Given the description of an element on the screen output the (x, y) to click on. 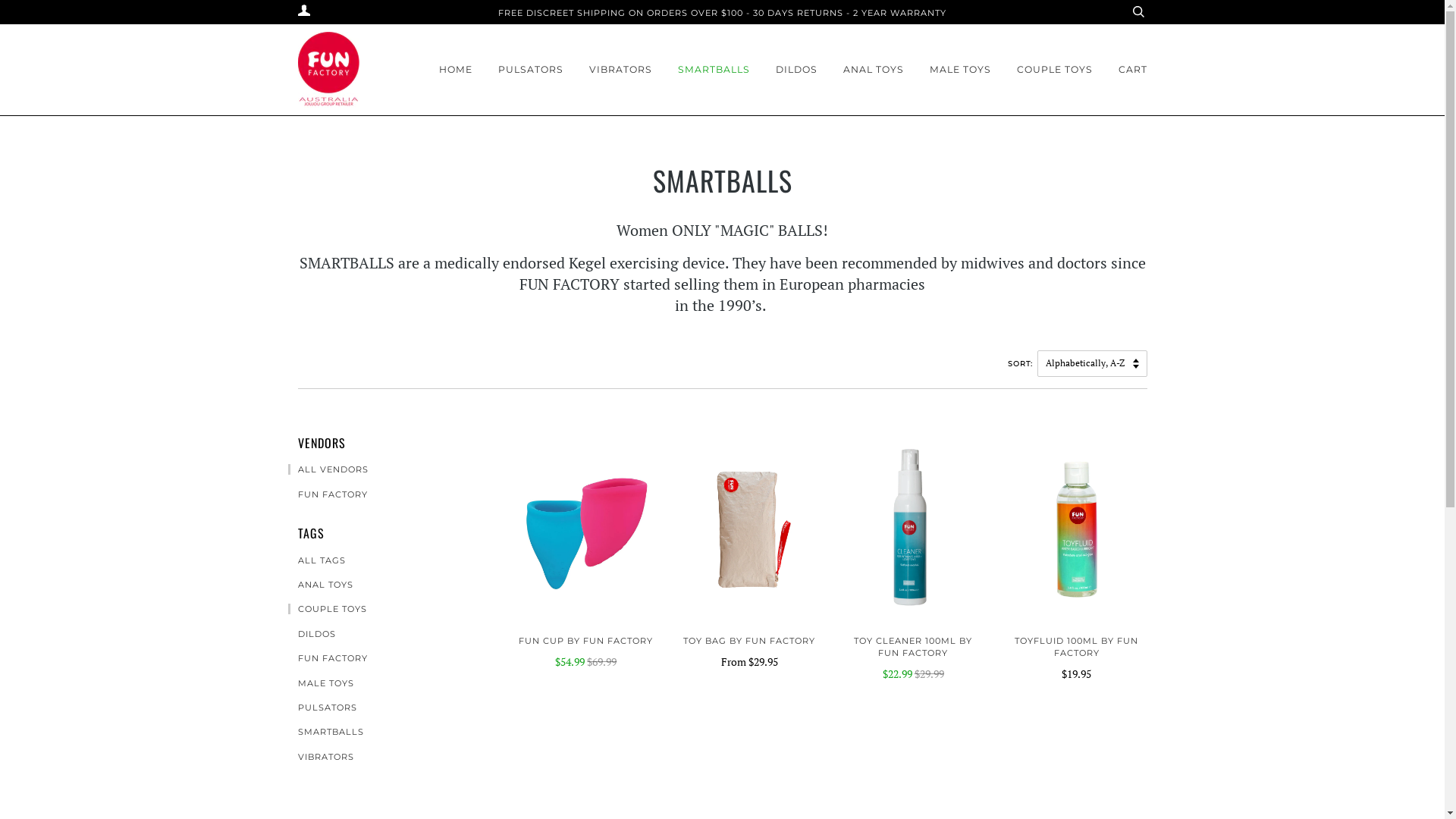
SMARTBALLS Element type: text (326, 731)
ALL VENDORS Element type: text (328, 469)
TOY BAG BY FUN FACTORY
From $29.95 Element type: text (749, 652)
MALE TOYS Element type: text (960, 69)
DILDOS Element type: text (795, 69)
HOME Element type: text (454, 69)
FUN FACTORY Element type: text (327, 494)
ANAL TOYS Element type: text (873, 69)
DILDOS Element type: text (311, 633)
VIBRATORS Element type: text (619, 69)
TOY CLEANER 100ML BY FUN FACTORY
$22.99 $29.99 Element type: text (912, 658)
ANAL TOYS Element type: text (320, 584)
PULSATORS Element type: text (322, 707)
FUN CUP BY FUN FACTORY
$54.99 $69.99 Element type: text (585, 652)
ALL TAGS Element type: text (316, 560)
TOYFLUID 100ML BY FUN FACTORY
$19.95 Element type: text (1076, 658)
COUPLE TOYS Element type: text (1054, 69)
PULSATORS Element type: text (529, 69)
CART Element type: text (1131, 69)
SMARTBALLS Element type: text (713, 69)
MALE TOYS Element type: text (321, 682)
FUN FACTORY Element type: text (327, 657)
COUPLE TOYS Element type: text (327, 608)
VIBRATORS Element type: text (321, 756)
